Given the description of an element on the screen output the (x, y) to click on. 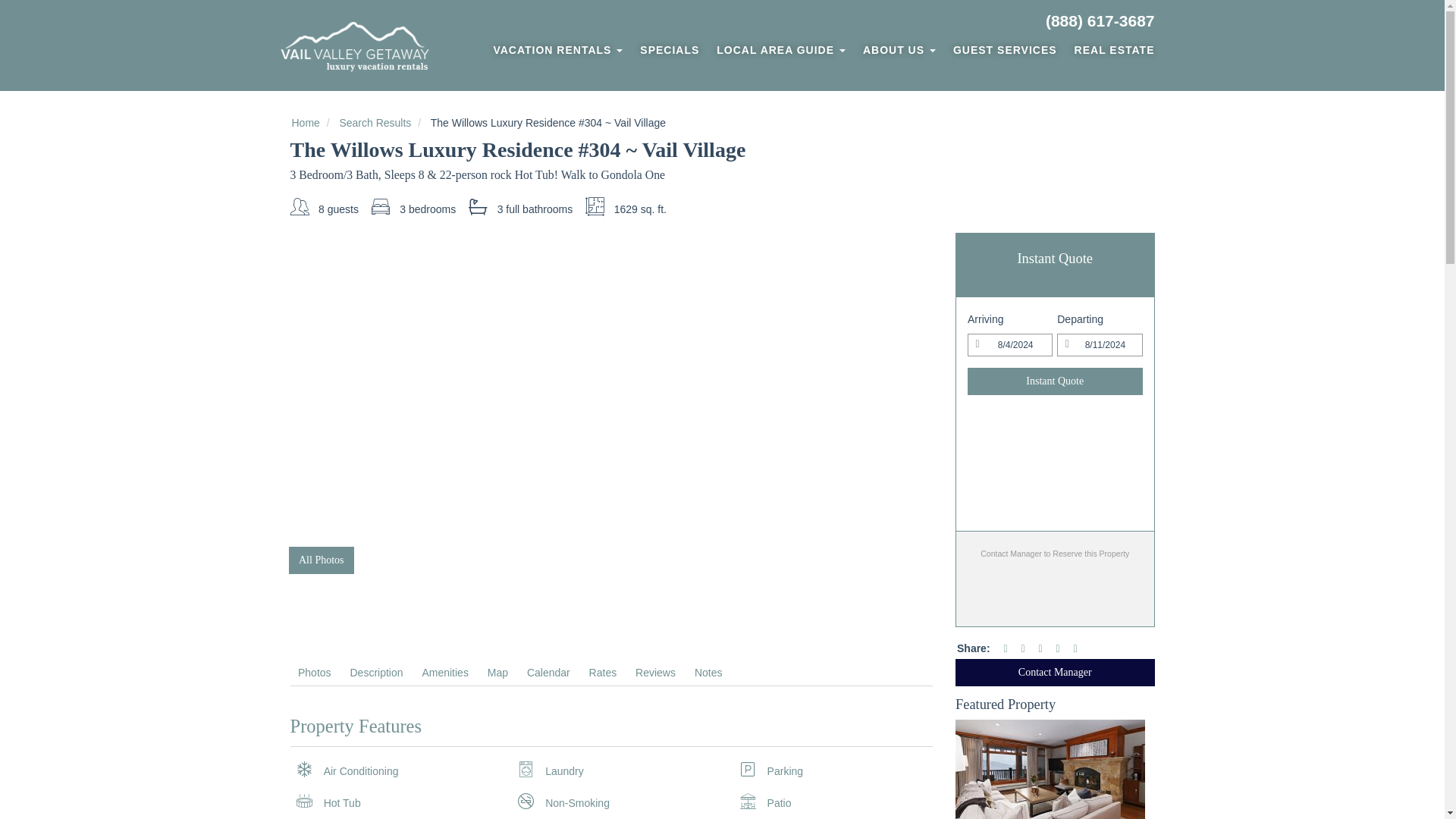
SPECIALS (669, 49)
Reviews (655, 672)
Calendar (548, 672)
Rates (602, 672)
ABOUT US (898, 49)
GUEST SERVICES (1004, 49)
Search Results (374, 122)
REAL ESTATE (1109, 49)
Home (304, 122)
Map (497, 672)
Amenities (444, 672)
LOCAL AREA GUIDE (781, 49)
Description (376, 672)
Notes (707, 672)
VACATION RENTALS (557, 49)
